Given the description of an element on the screen output the (x, y) to click on. 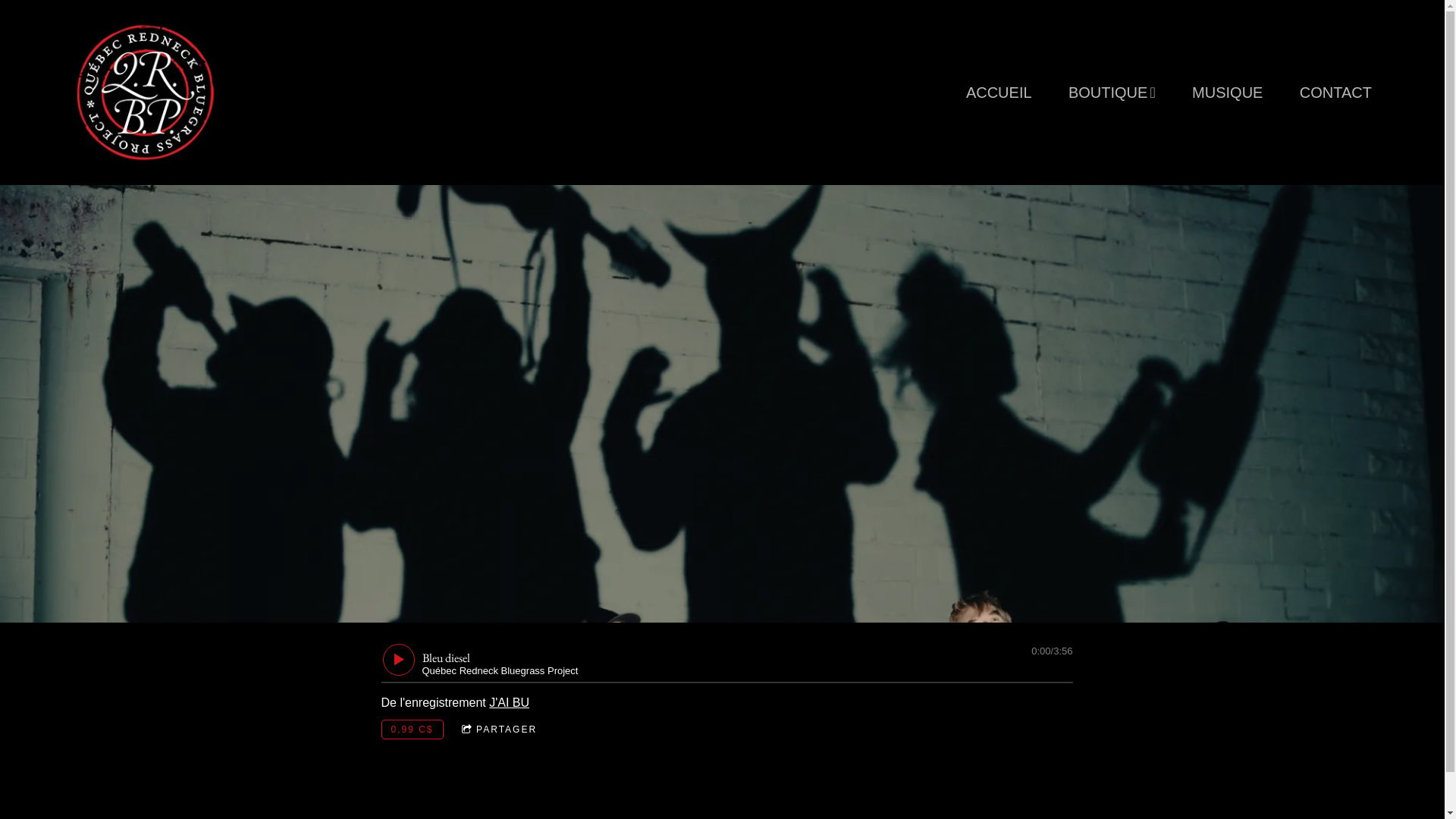
PARTAGER Element type: text (499, 729)
0,99 C$ Element type: text (411, 729)
ACCUEIL Element type: text (999, 92)
BOUTIQUE Element type: text (1111, 92)
J'AI BU Element type: text (509, 702)
CONTACT Element type: text (1335, 92)
MUSIQUE Element type: text (1227, 92)
